Given the description of an element on the screen output the (x, y) to click on. 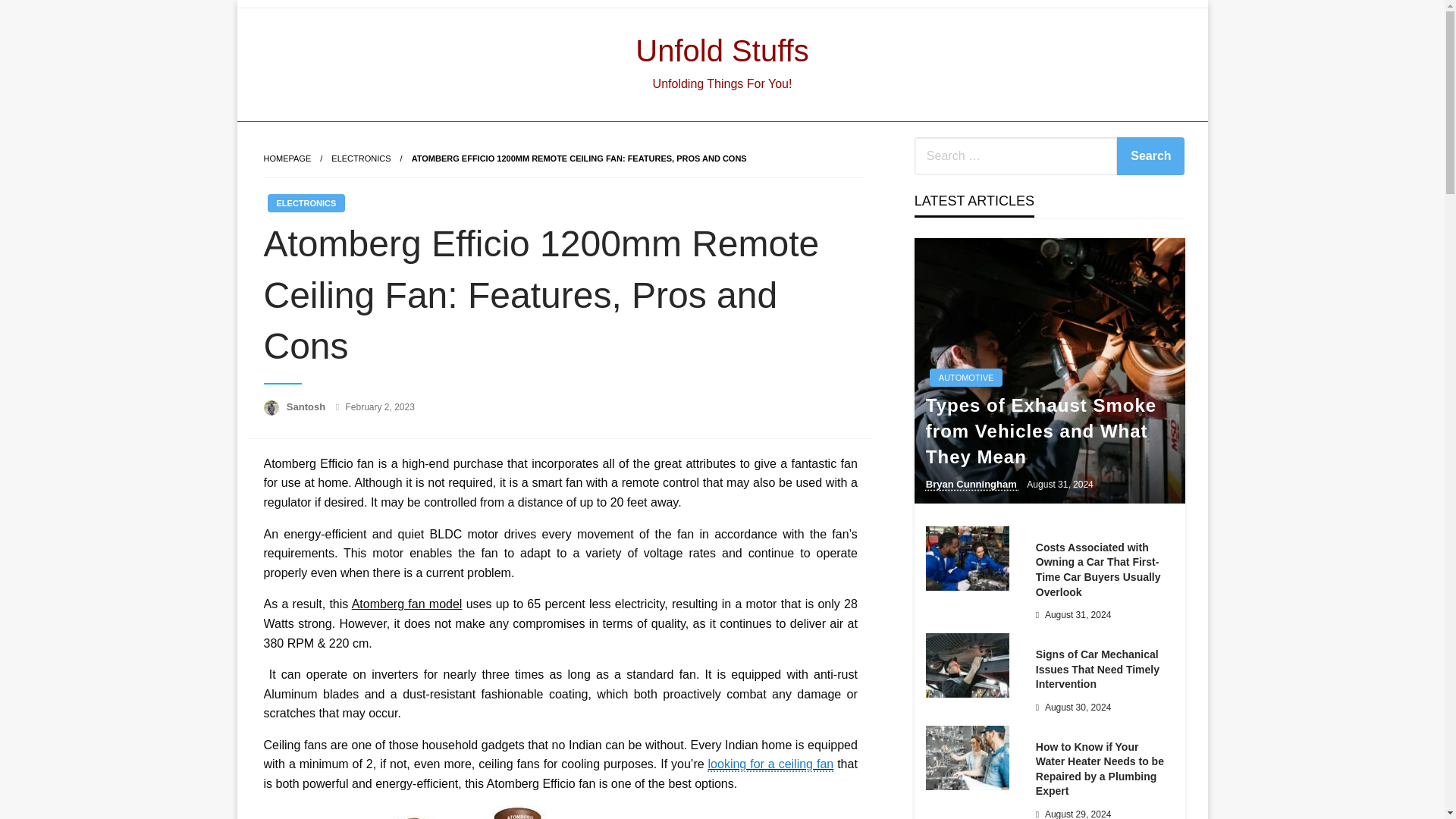
Search (1150, 156)
Search (1150, 156)
Homepage (287, 157)
Santosh (307, 406)
Unfold Stuffs (721, 50)
Electronics (360, 157)
